Given the description of an element on the screen output the (x, y) to click on. 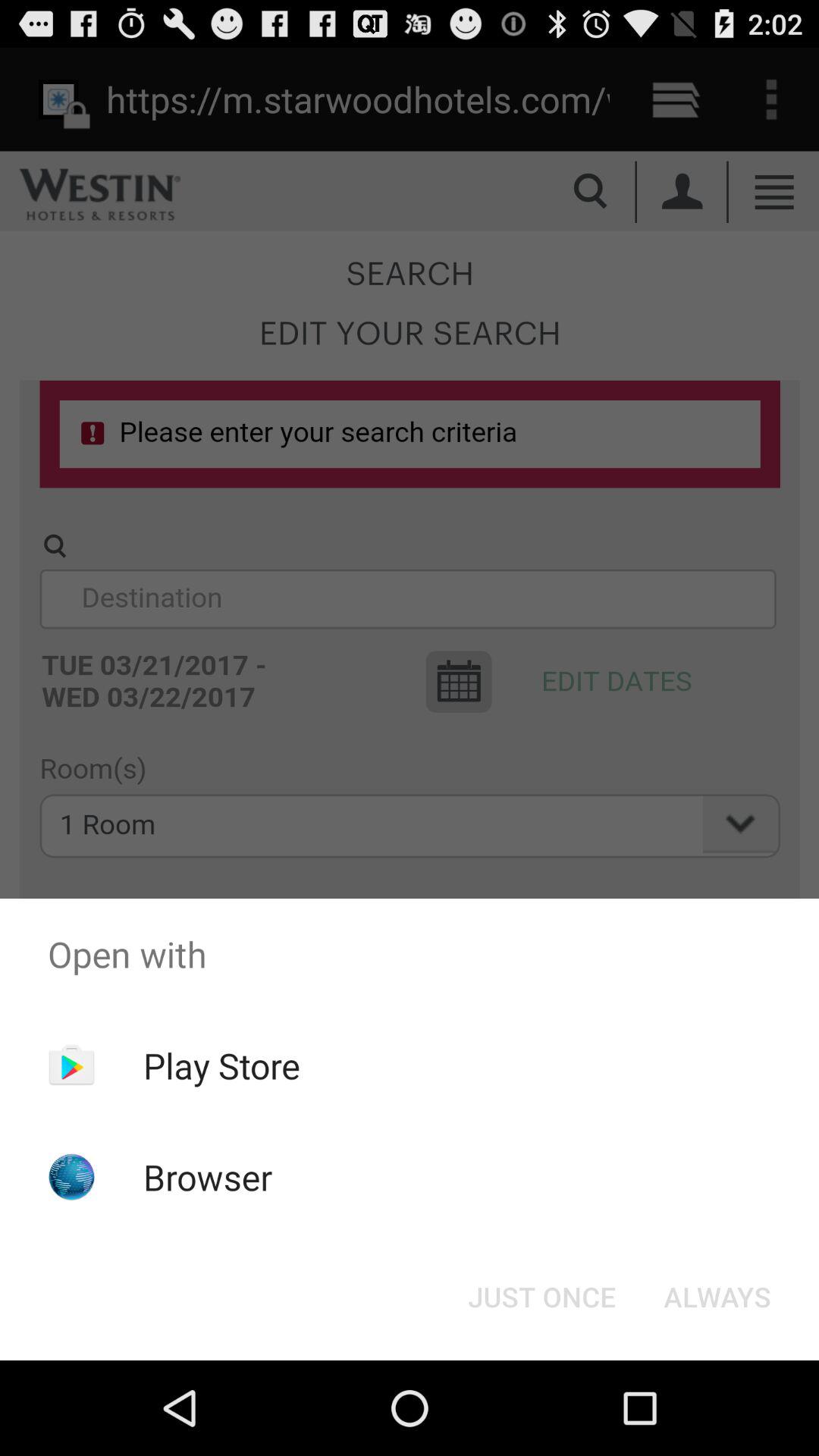
turn on the always button (717, 1296)
